Given the description of an element on the screen output the (x, y) to click on. 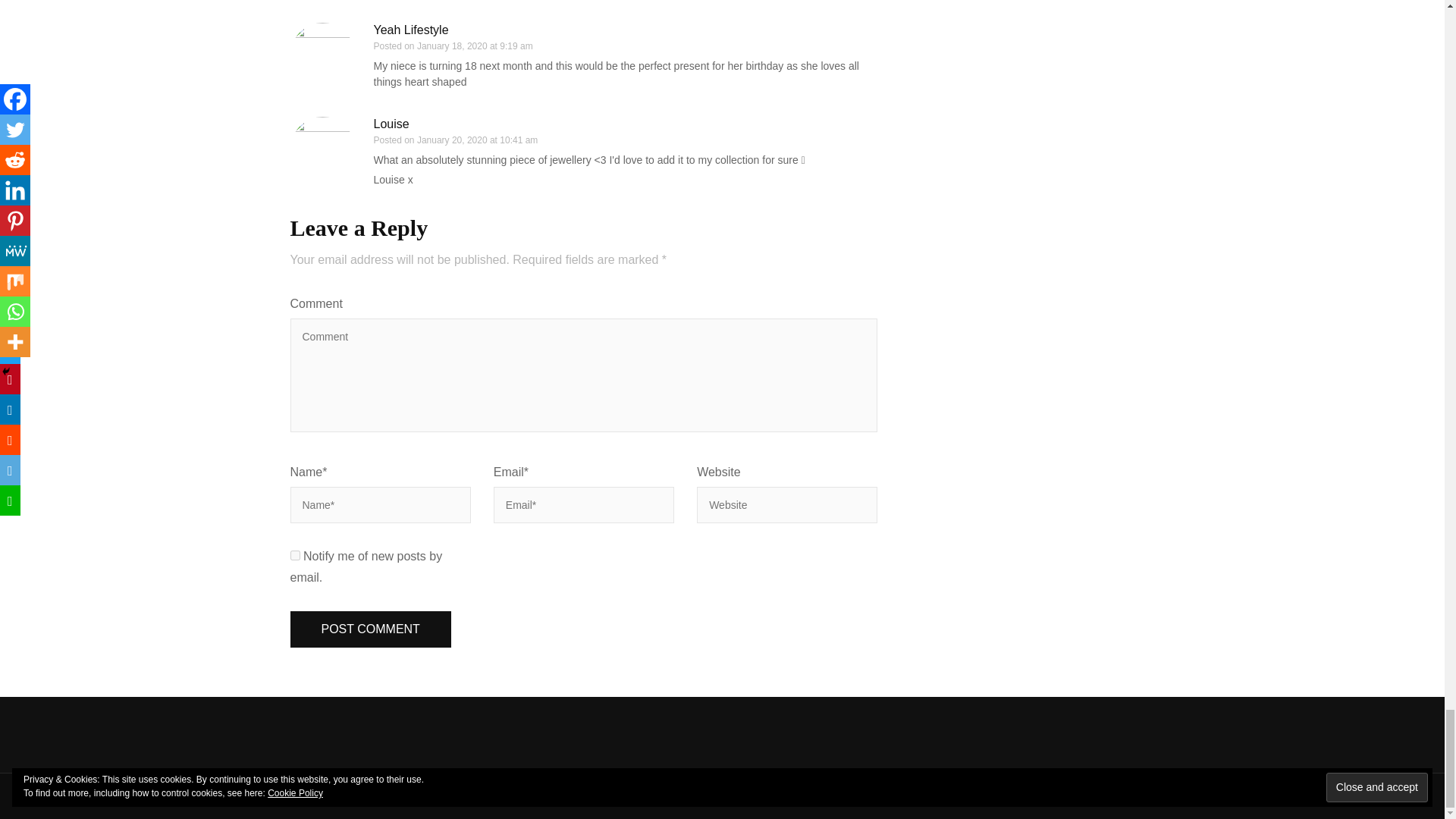
Post Comment (369, 628)
subscribe (294, 555)
